Given the description of an element on the screen output the (x, y) to click on. 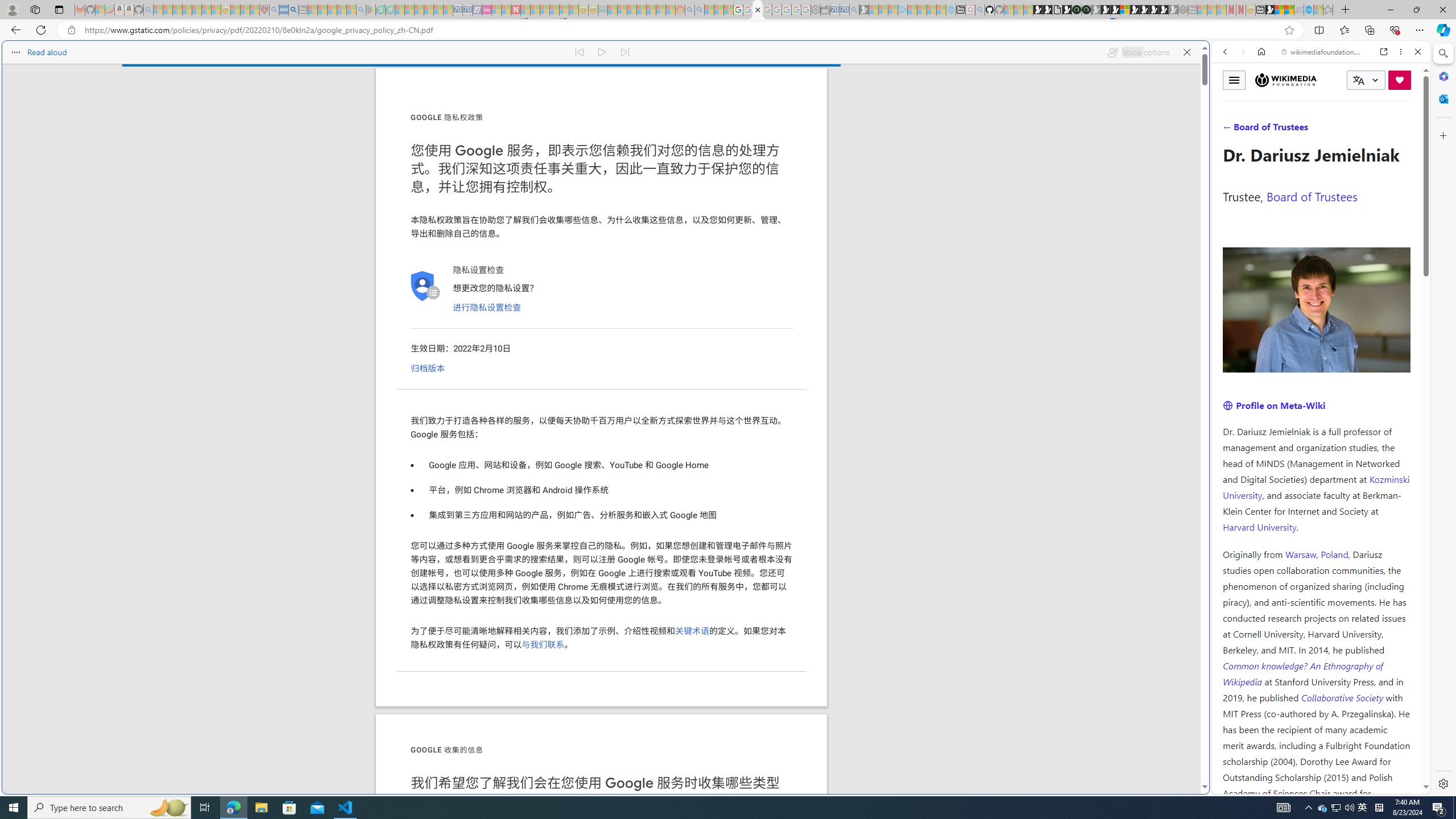
Play Cave FRVR in your browser | Games from Microsoft Start (1105, 9)
Read next paragraph (624, 52)
Toggle menu (1233, 80)
Play Zoo Boom in your browser | Games from Microsoft Start (1047, 9)
Close read aloud (1186, 52)
